Given the description of an element on the screen output the (x, y) to click on. 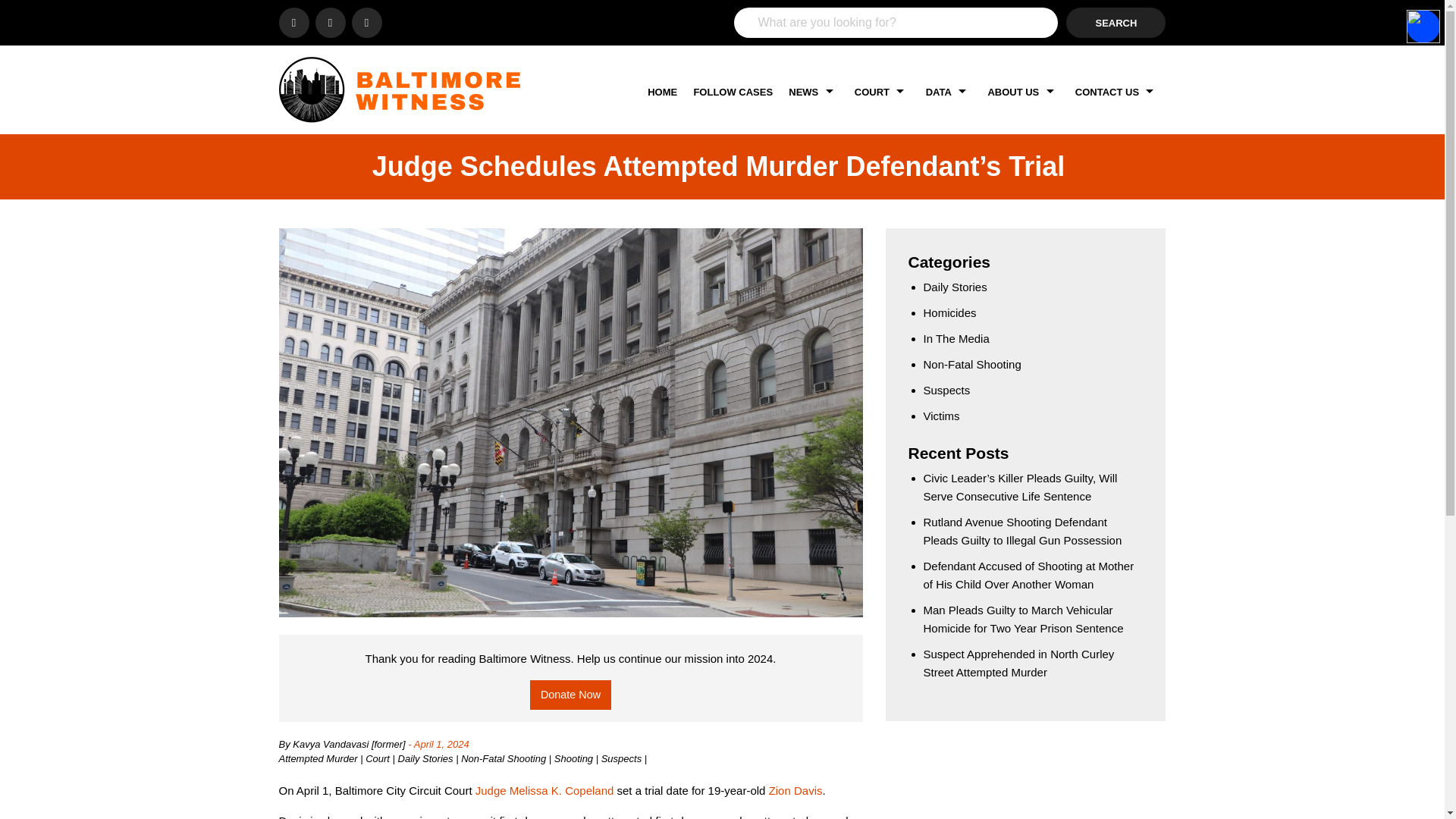
DATA (949, 91)
Daily Stories (427, 758)
ABOUT US (1022, 91)
Donate Now (570, 695)
Search (1115, 22)
Court (378, 758)
Attempted Murder (320, 758)
Search (1115, 22)
Accessibility Menu (1422, 26)
COURT (881, 91)
